Given the description of an element on the screen output the (x, y) to click on. 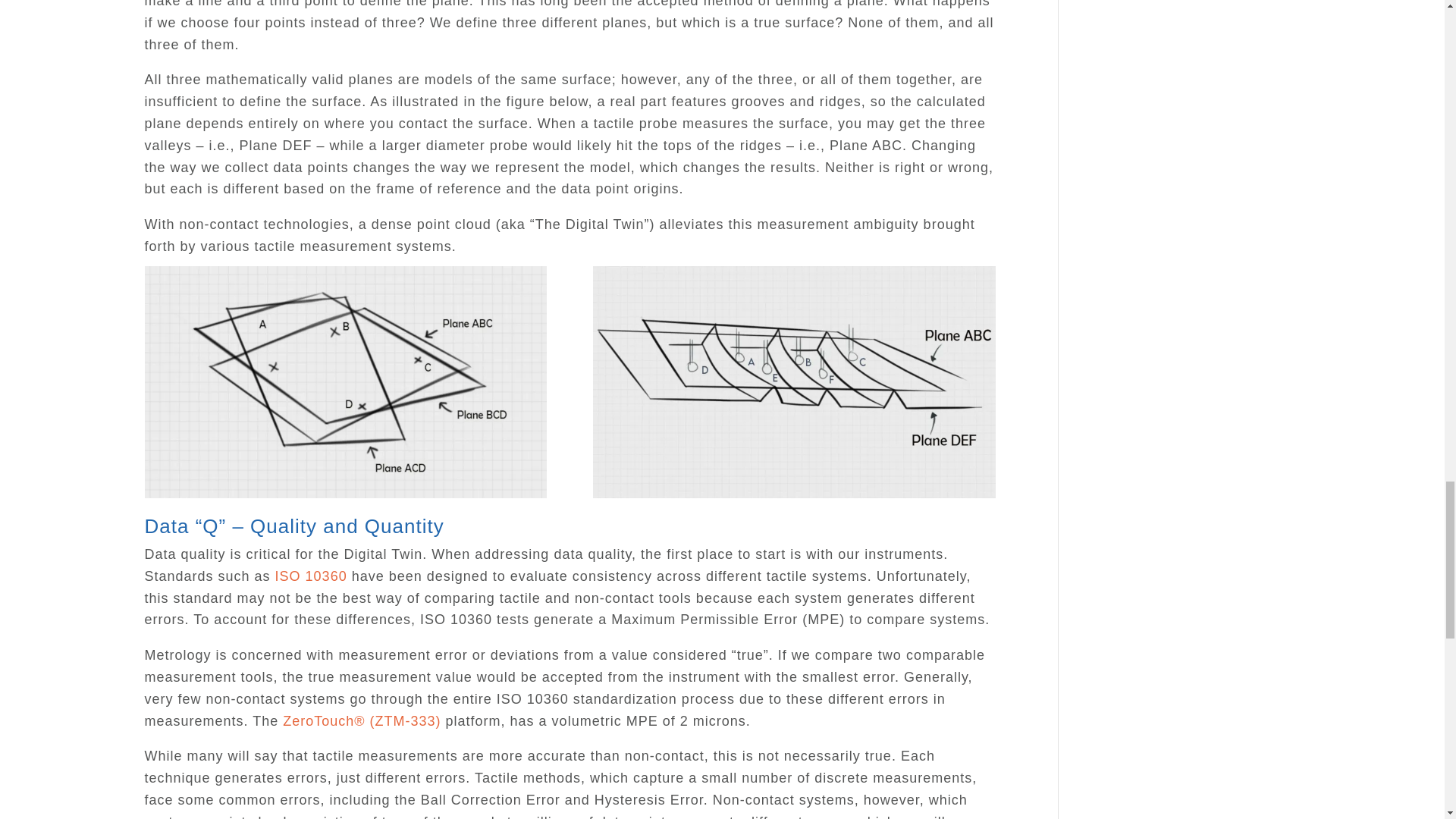
Three different planes (345, 498)
figure-1-true-surface (793, 381)
figure-2-three-different-planes (345, 381)
Challenges of measuring the true surface. (793, 498)
